Given the description of an element on the screen output the (x, y) to click on. 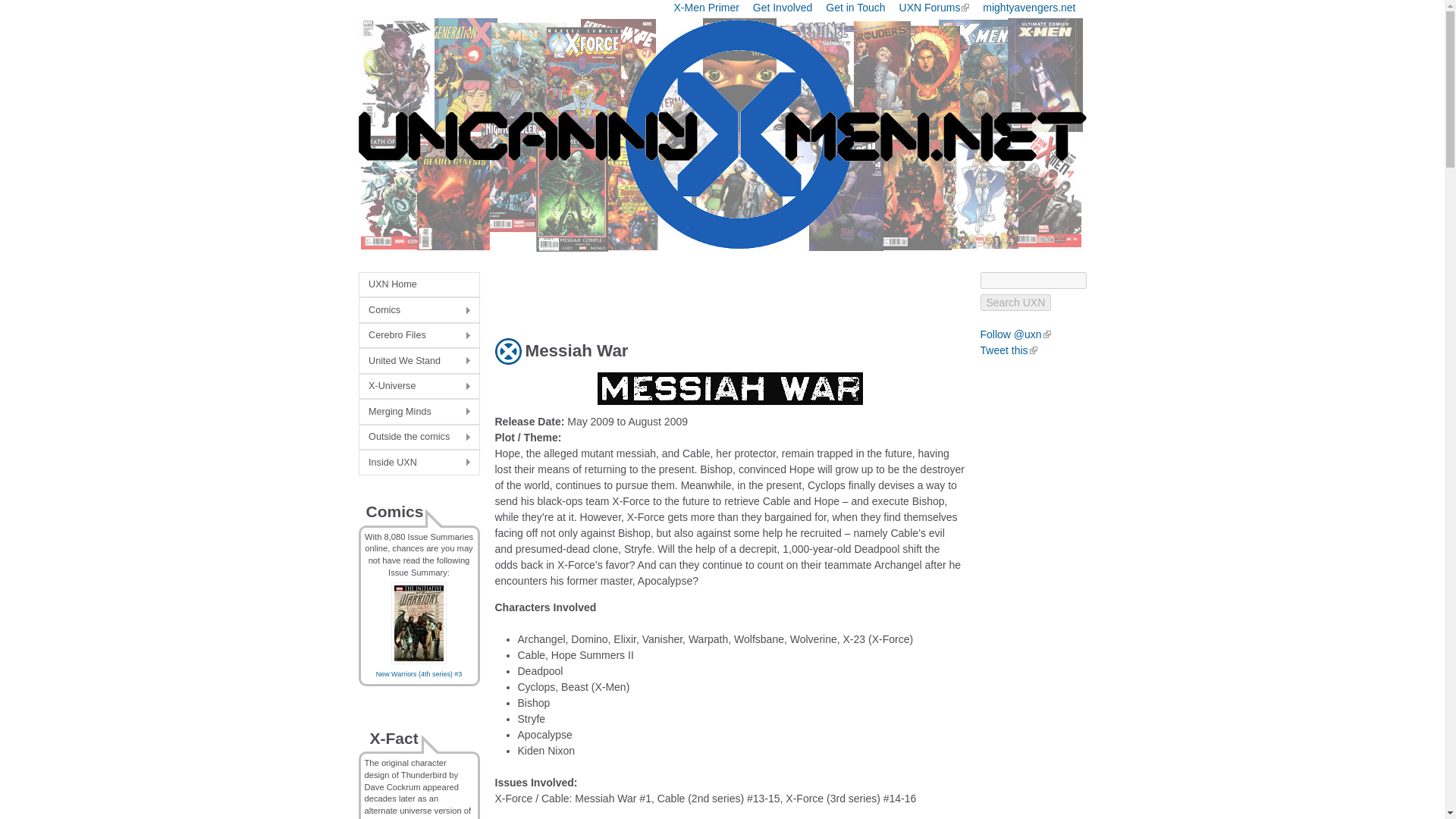
Check out our Sister site, MightyAvengers.Net! (1028, 7)
Get in Touch (855, 7)
Advertisement (671, 294)
To the Front page! (418, 284)
Get Involved (782, 7)
Search UXN (1015, 302)
An Introduction to the X-Men (706, 7)
section for articles that don't belong anywhere else (418, 411)
Sections devoted to X-Men characters outside the comic books (418, 437)
Contribute to the site (782, 7)
mightyavengers.net (1028, 7)
UXN Home (418, 284)
X-Men Primer (706, 7)
